Given the description of an element on the screen output the (x, y) to click on. 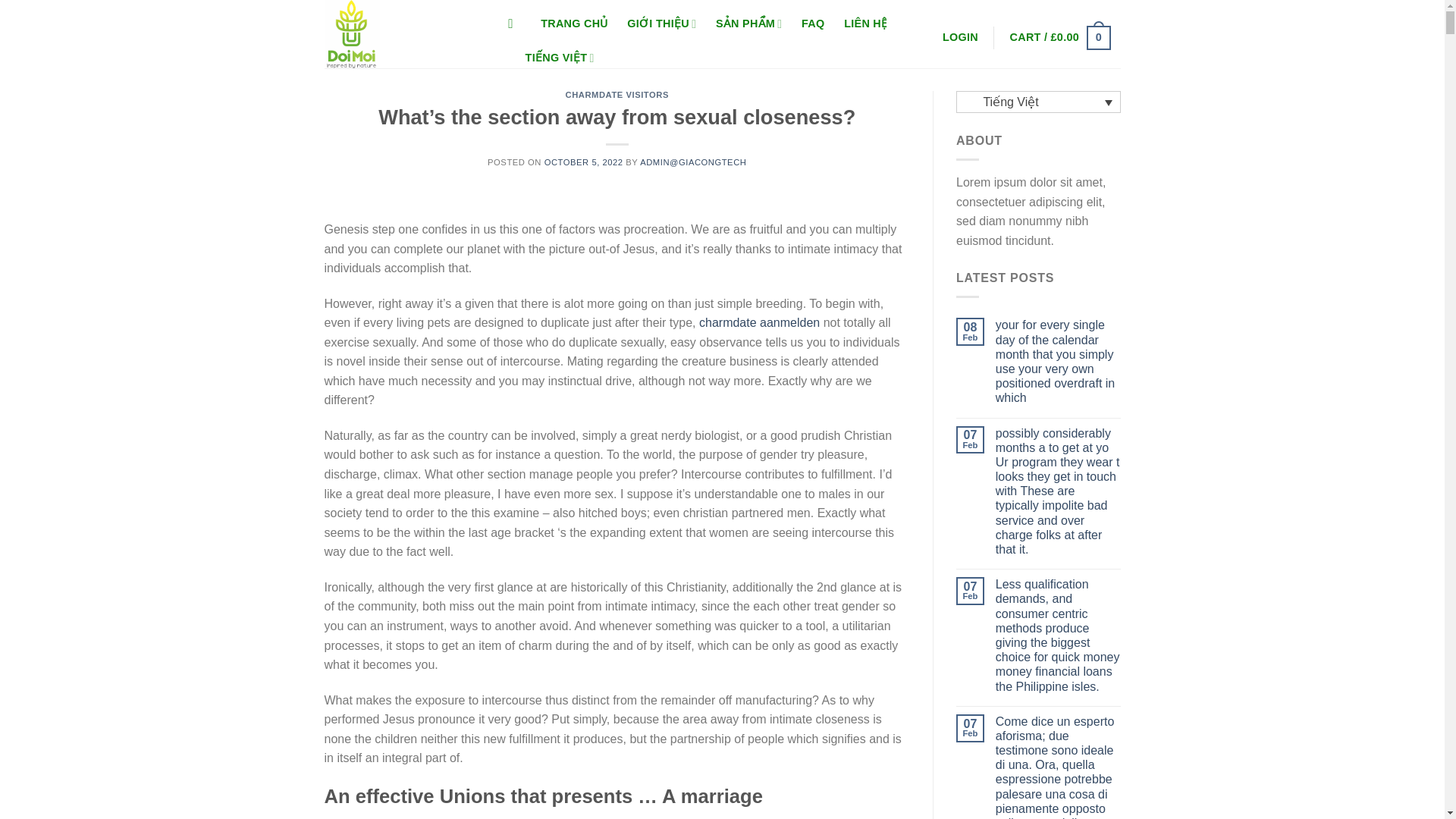
CHARMDATE VISITORS (617, 94)
Doi Moi Company Limited - My WordPress Blog (400, 33)
FAQ (813, 23)
charmdate aanmelden (758, 322)
OCTOBER 5, 2022 (583, 162)
